Given the description of an element on the screen output the (x, y) to click on. 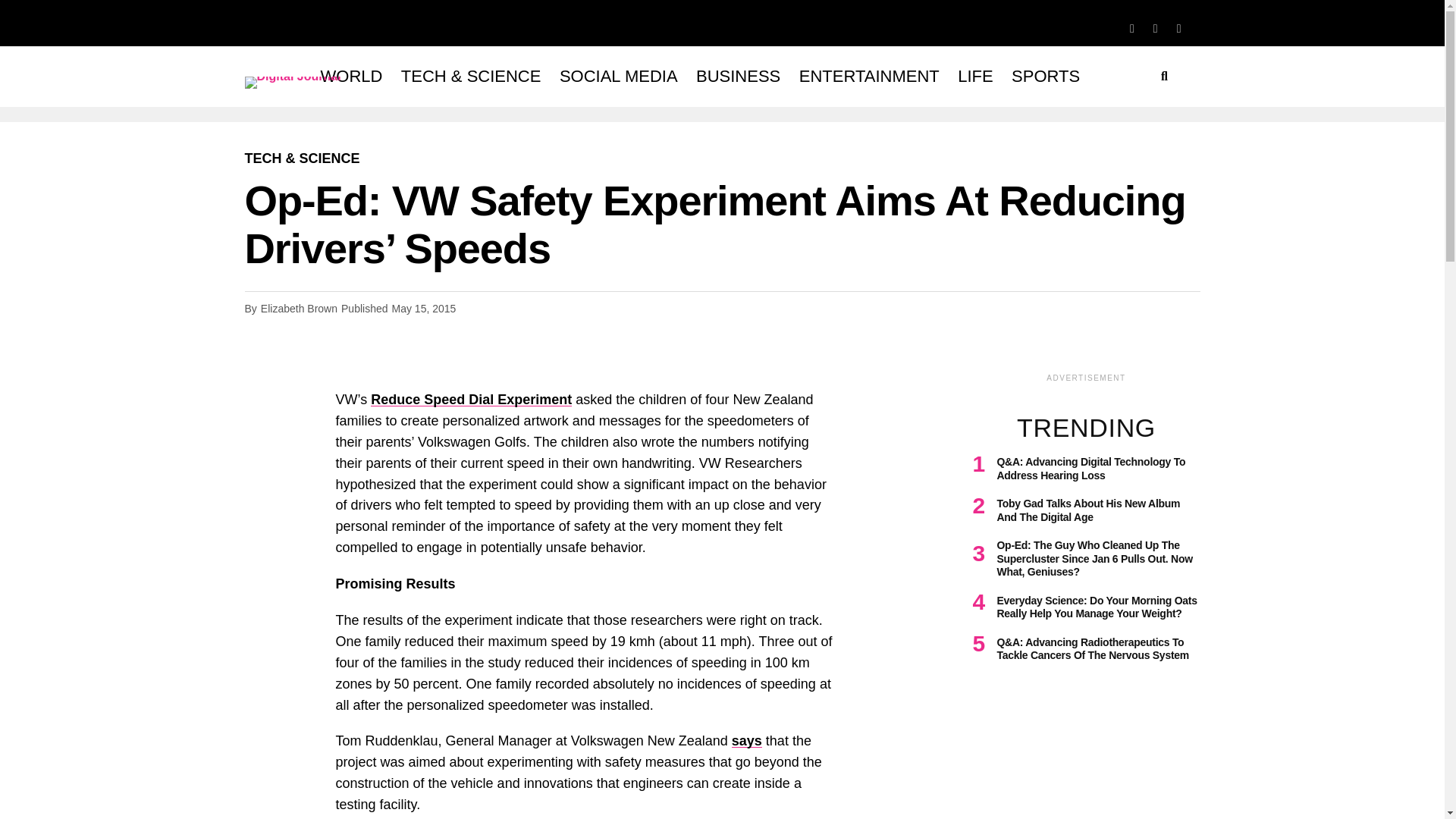
WORLD (351, 76)
BUSINESS (737, 76)
SPORTS (1045, 76)
SOCIAL MEDIA (618, 76)
ENTERTAINMENT (869, 76)
Reduce Speed Dial Experiment (471, 399)
LIFE (975, 76)
says (746, 740)
